Given the description of an element on the screen output the (x, y) to click on. 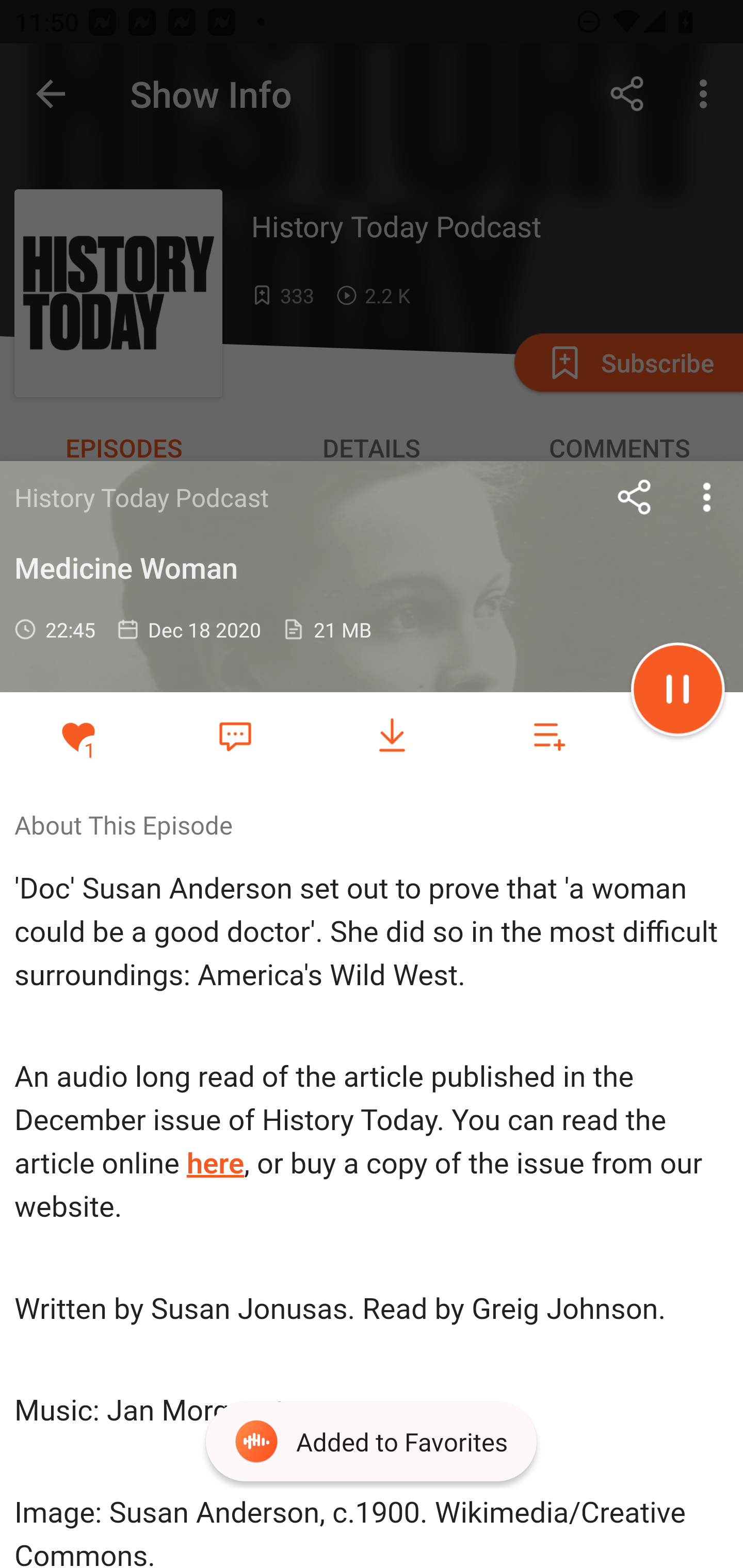
Share (634, 496)
more options (706, 496)
Pause (677, 692)
Favorite (234, 735)
Remove from Favorites (78, 735)
Download (391, 735)
Add to playlist (548, 735)
here (215, 1163)
